Given the description of an element on the screen output the (x, y) to click on. 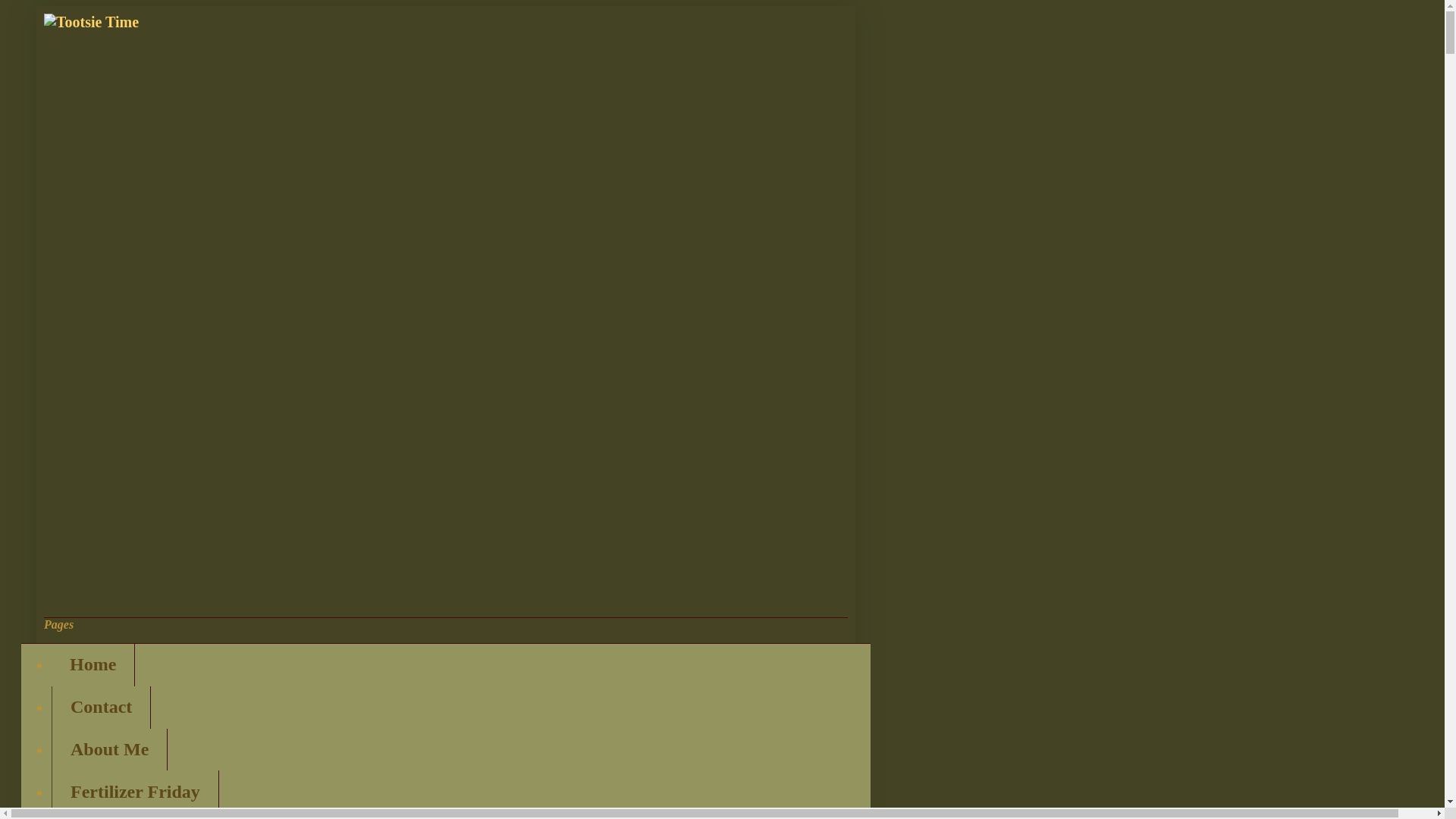
Fertilizer Friday (134, 791)
Contact (100, 707)
Advertise (107, 816)
About Me (108, 749)
Home (92, 664)
